Given the description of an element on the screen output the (x, y) to click on. 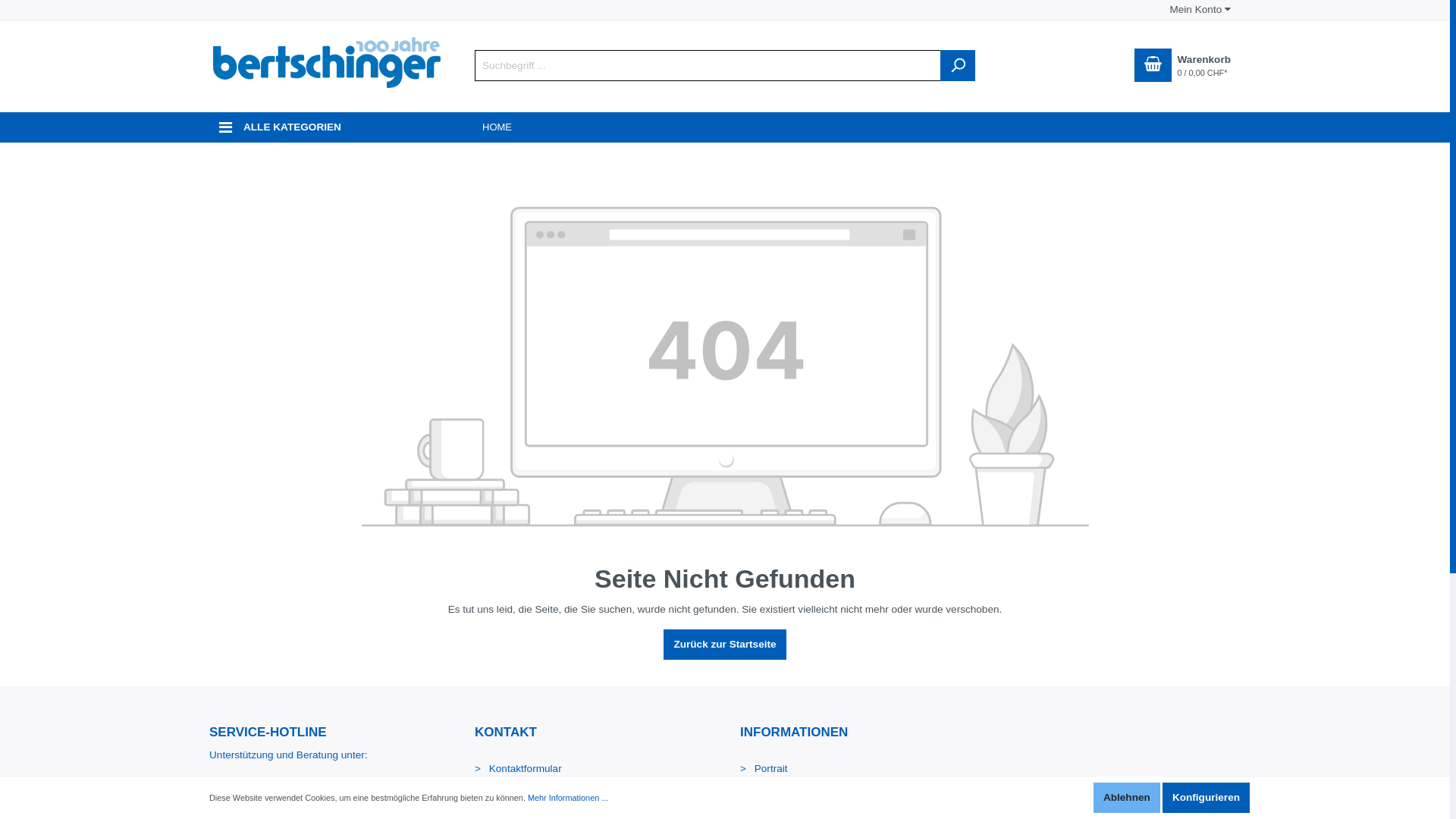
056 618 78 78 Element type: text (326, 785)
Portrait Element type: text (763, 768)
Warenkorb
0 / 0,00 CHF* Element type: text (1181, 65)
Search Element type: hover (957, 65)
AGB Element type: text (757, 787)
Konfigurieren Element type: text (1205, 797)
Kontaktformular Element type: text (517, 768)
ALLE KATEGORIEN Element type: text (326, 127)
Mehr Informationen ... Element type: text (567, 797)
Zur Startseite wechseln Element type: hover (326, 62)
Mein Konto Element type: text (1199, 9)
Ablehnen Element type: text (1126, 797)
HOME Element type: text (496, 126)
